Given the description of an element on the screen output the (x, y) to click on. 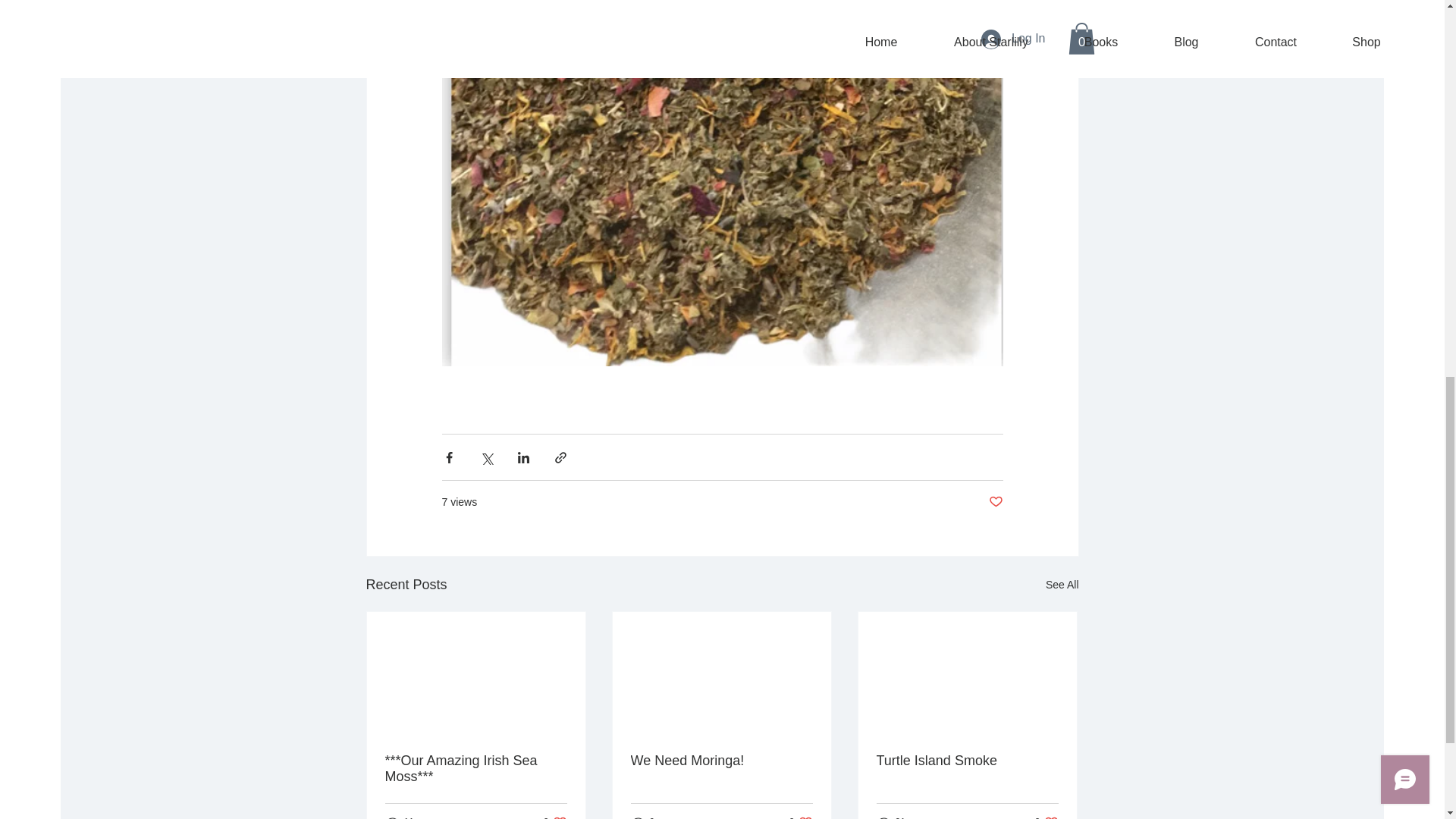
Post not marked as liked (995, 502)
Turtle Island Smoke (800, 816)
See All (1046, 816)
We Need Moringa! (967, 760)
